Given the description of an element on the screen output the (x, y) to click on. 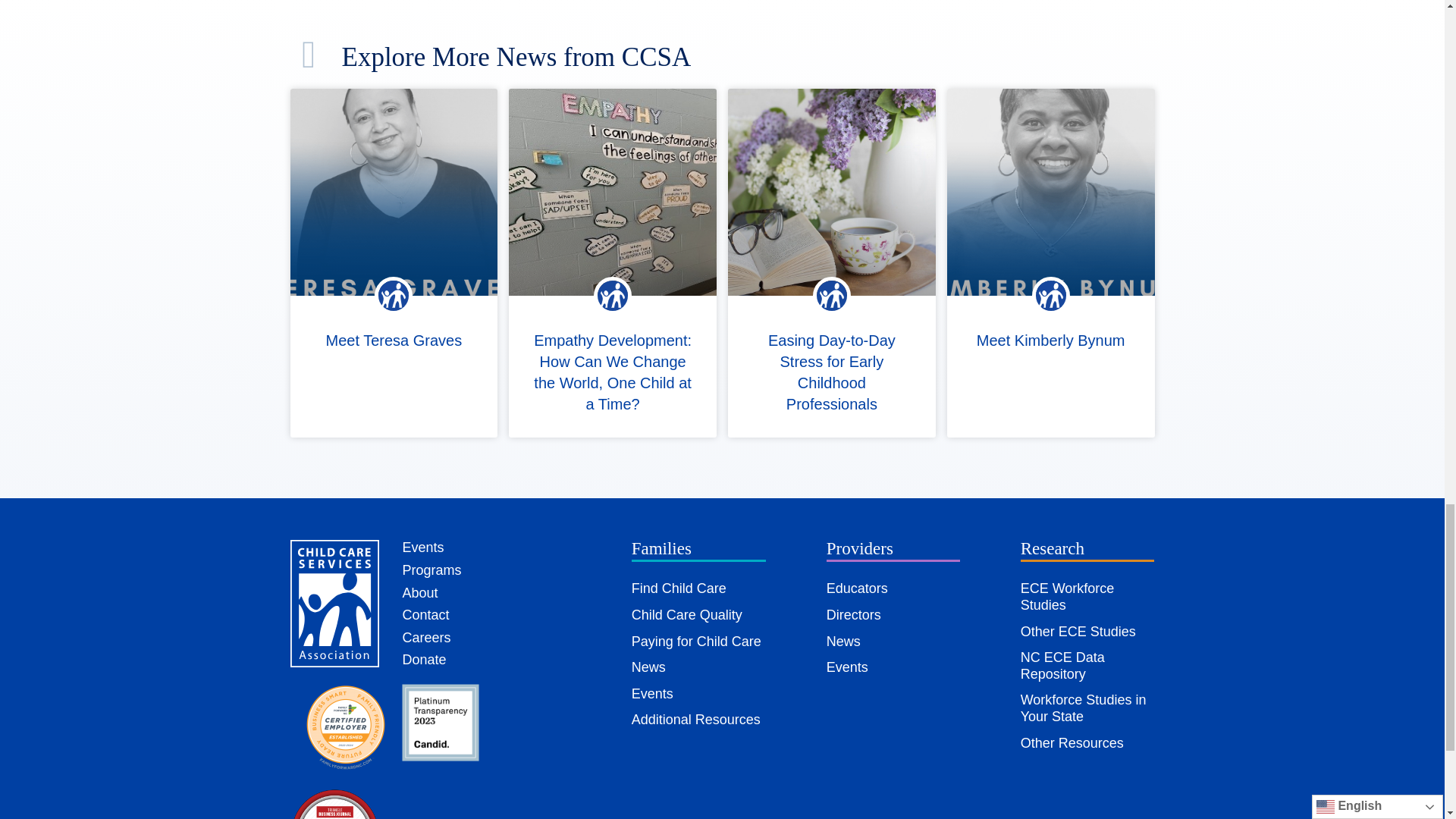
Family Foward Badge. (345, 727)
candid (440, 722)
